Given the description of an element on the screen output the (x, y) to click on. 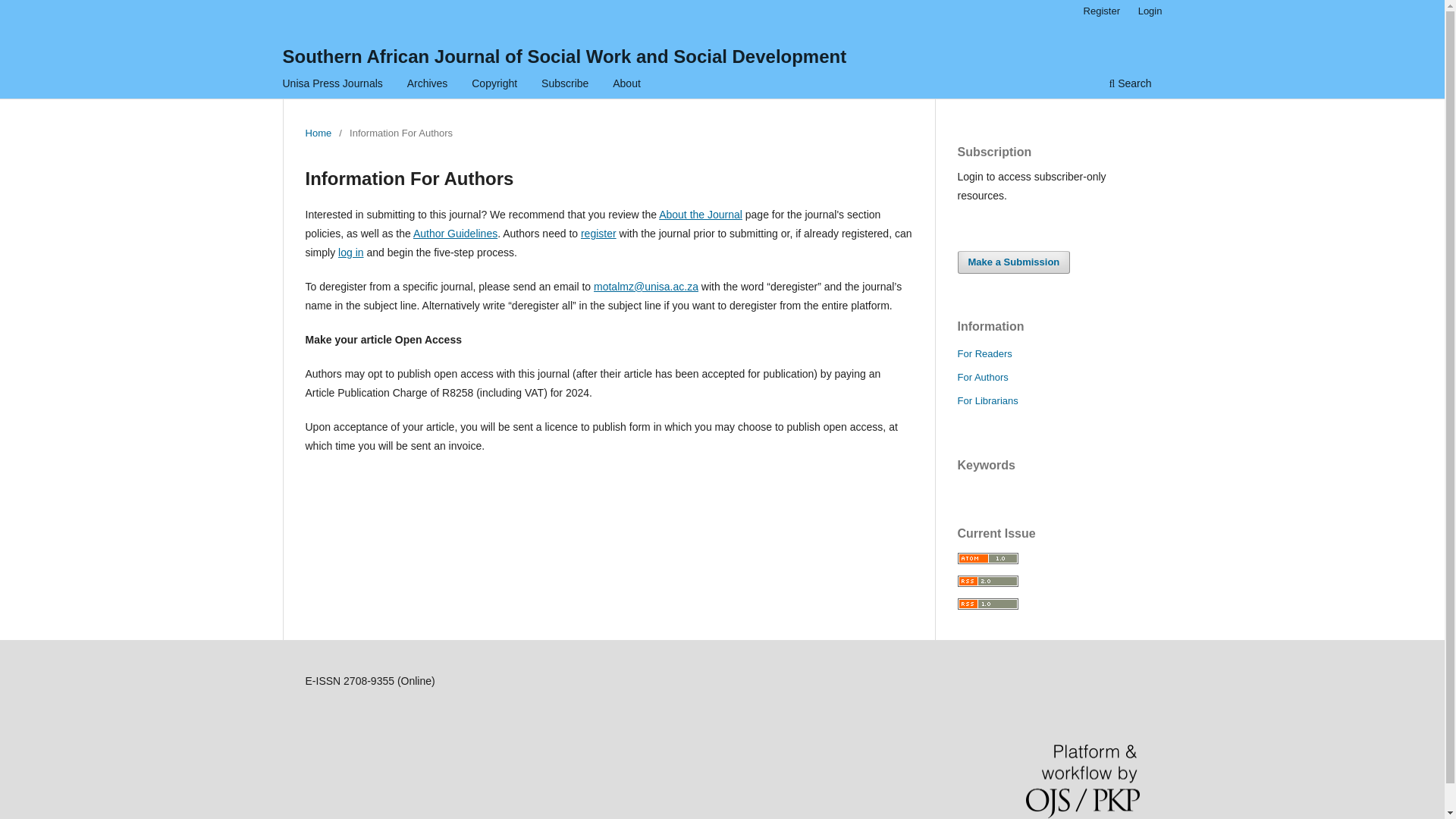
Home (317, 133)
About (626, 85)
Copyright (493, 85)
For Readers (983, 353)
For Librarians (986, 400)
Register (1100, 11)
Author Guidelines (455, 233)
Make a Submission (1013, 261)
Archives (426, 85)
log in (349, 252)
register (597, 233)
For Authors (981, 377)
Search (1129, 85)
Subscribe (564, 85)
